Given the description of an element on the screen output the (x, y) to click on. 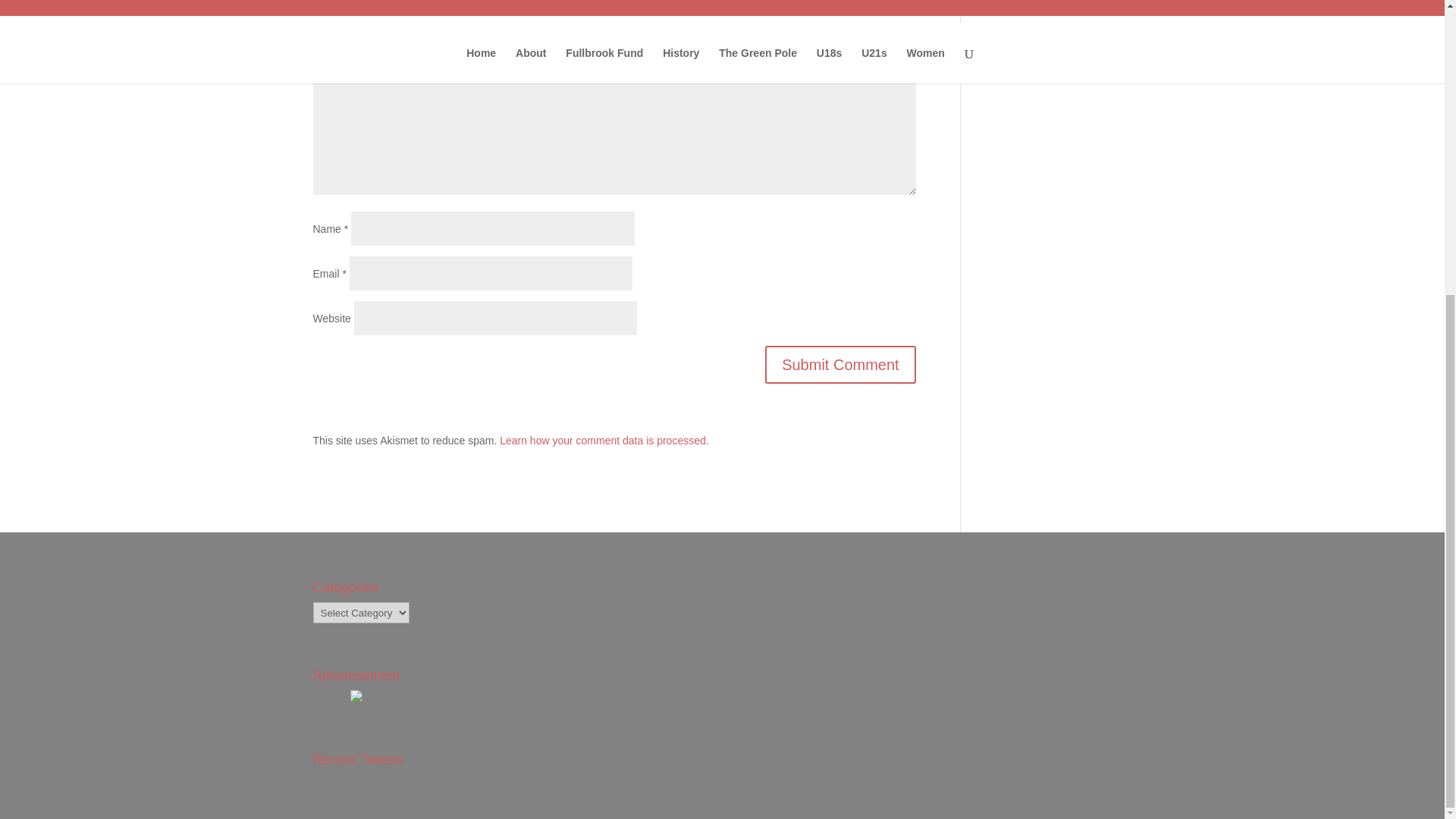
Submit Comment (840, 364)
